Given the description of an element on the screen output the (x, y) to click on. 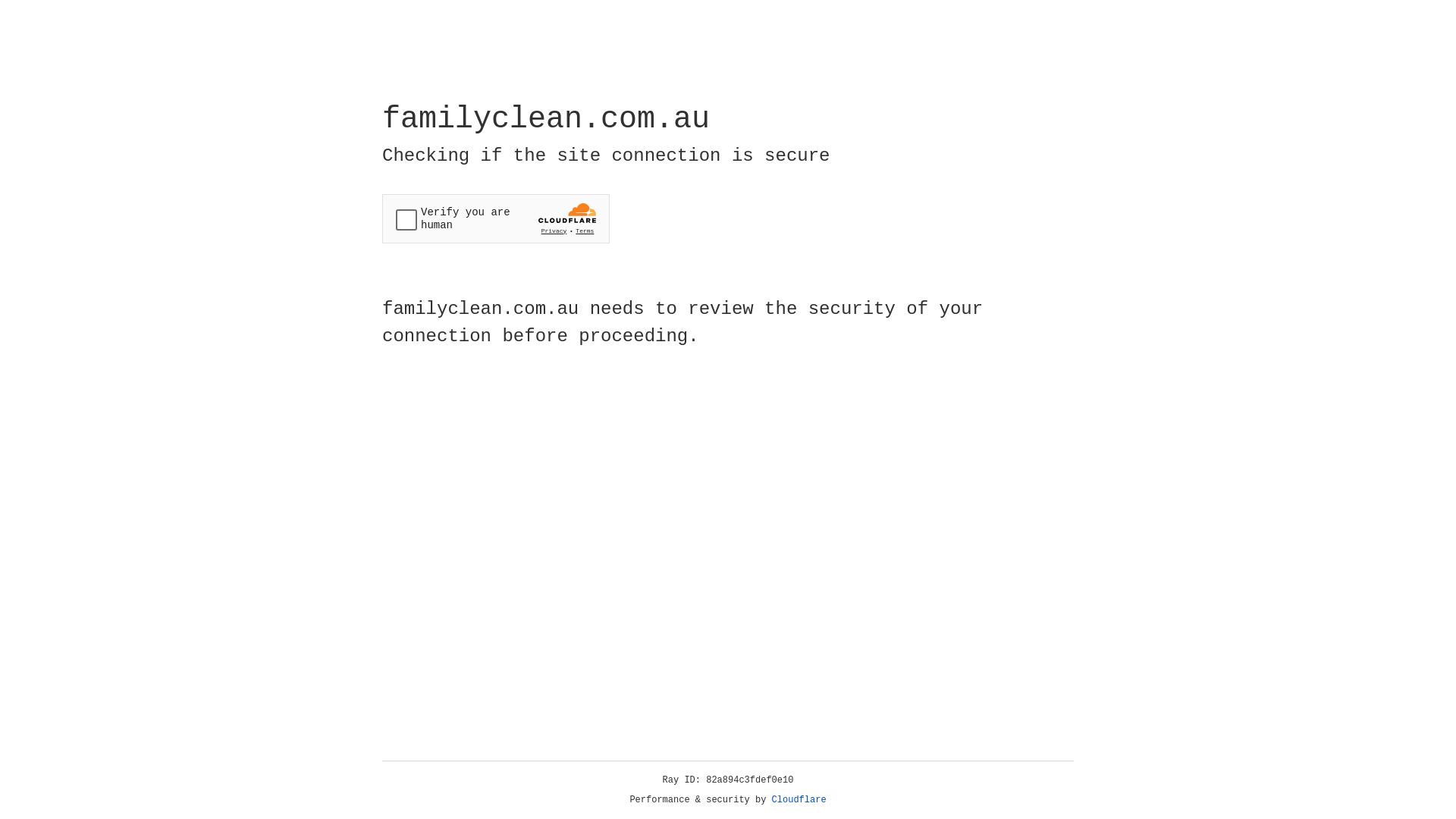
Cloudflare Element type: text (798, 799)
Widget containing a Cloudflare security challenge Element type: hover (495, 218)
